Given the description of an element on the screen output the (x, y) to click on. 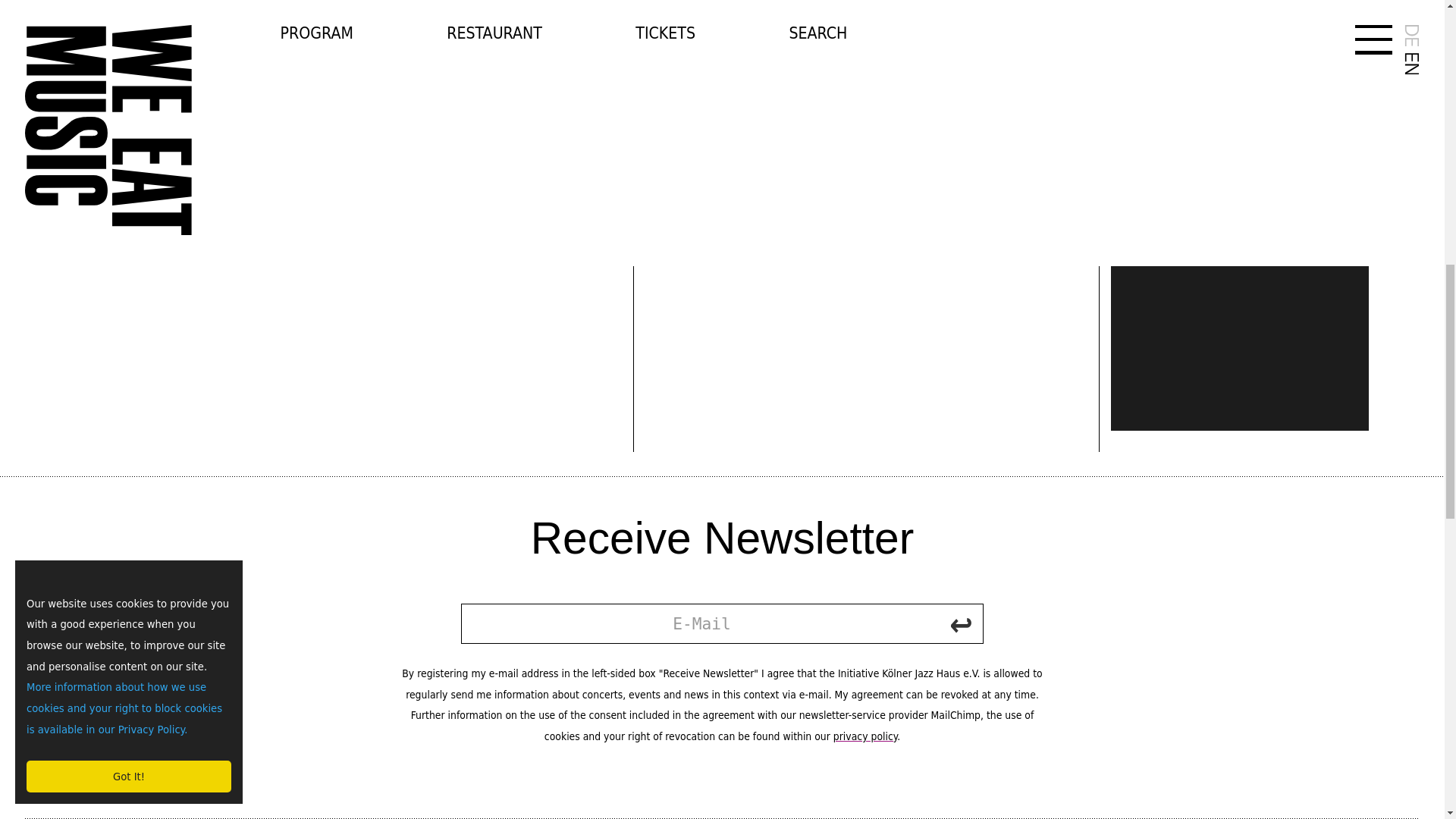
Download iCal-File (1253, 115)
Website (1136, 31)
Website (1136, 51)
Website (1136, 10)
